Given the description of an element on the screen output the (x, y) to click on. 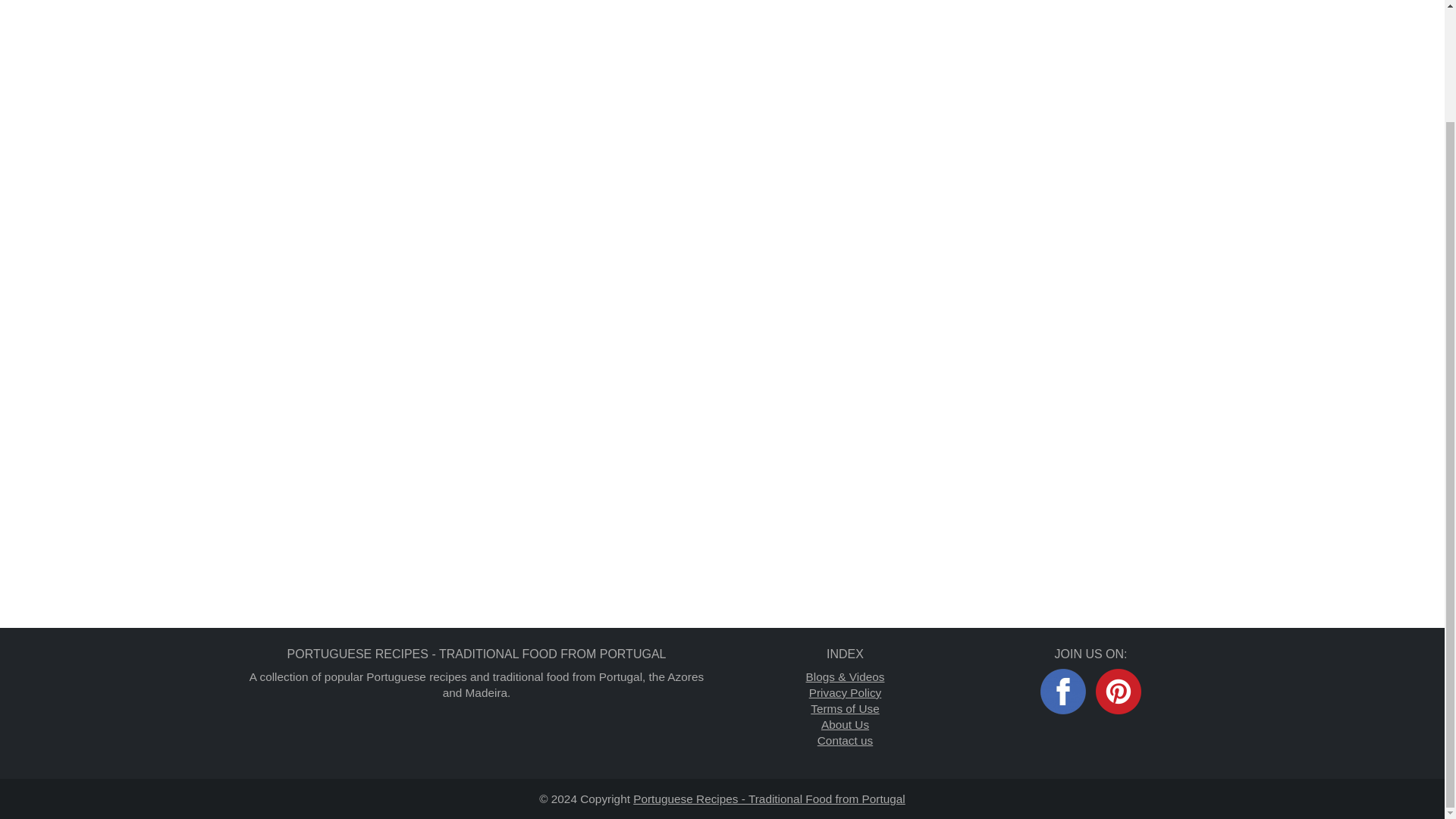
Follow us on Pinterest (1118, 691)
Contact us (844, 739)
About Us (845, 724)
Join us on Facebook (1063, 691)
Privacy Policy (845, 692)
Terms of Use (844, 707)
Portuguese Recipes - Traditional Food from Portugal (769, 798)
